Given the description of an element on the screen output the (x, y) to click on. 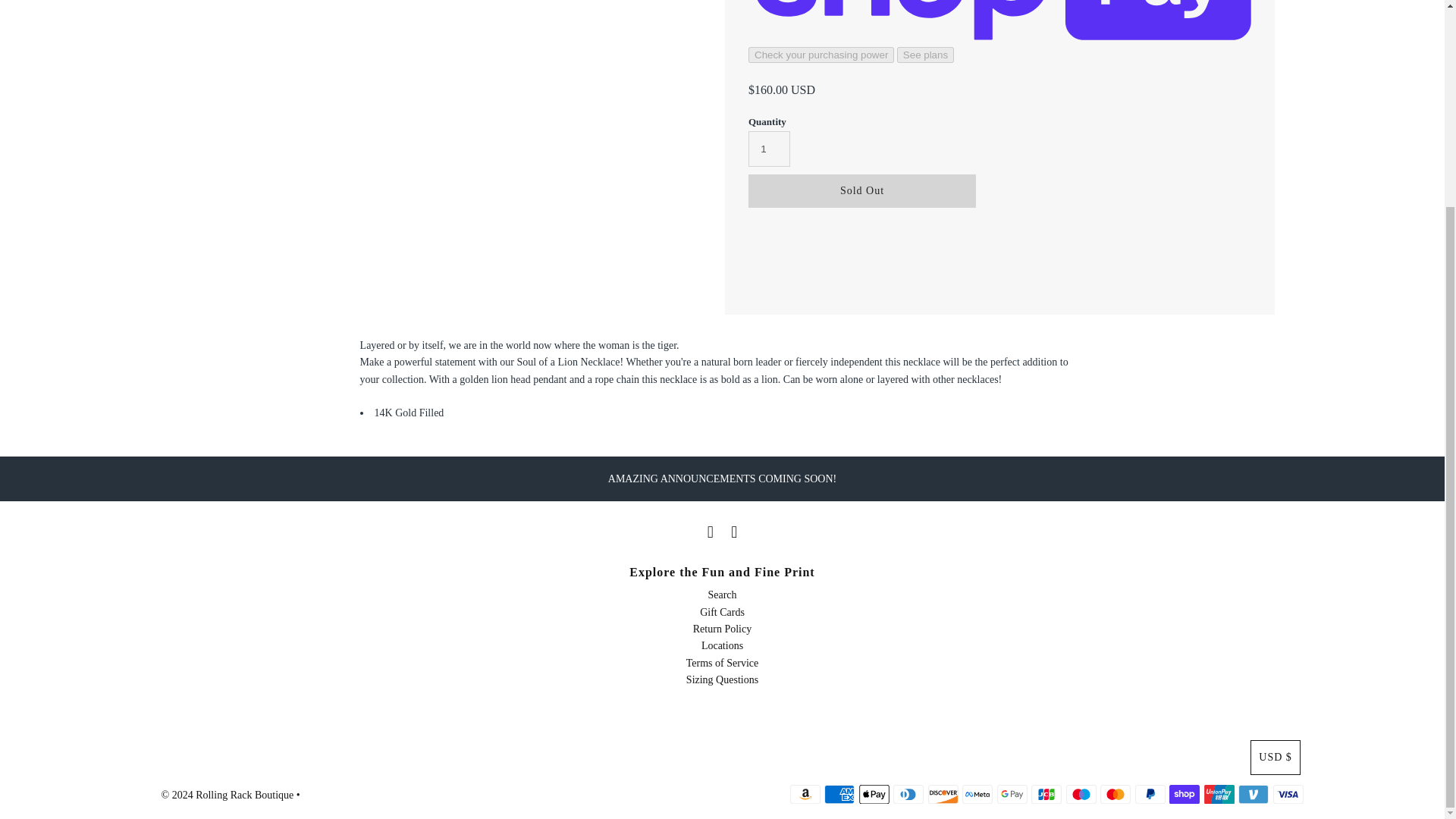
1 (769, 149)
Maestro (1080, 794)
Discover (943, 794)
Mastercard (1115, 794)
Venmo (1253, 794)
Meta Pay (977, 794)
Visa (1287, 794)
Union Pay (1219, 794)
Sold Out (861, 191)
JCB (1045, 794)
